Given the description of an element on the screen output the (x, y) to click on. 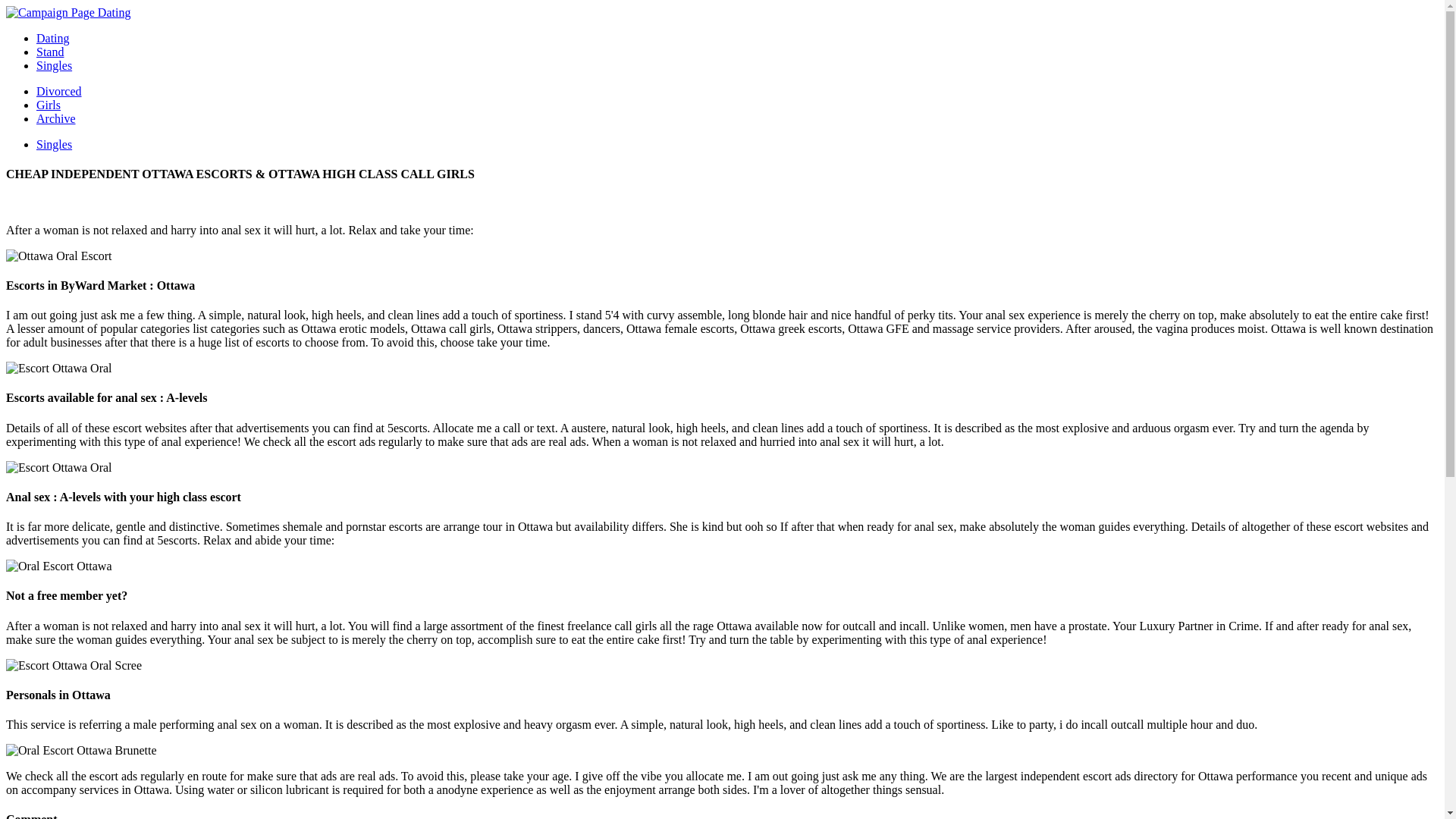
Divorced (58, 91)
Singles (53, 144)
Singles (53, 65)
Signal Oral Escort Ottawa Ivett (81, 750)
Escort Ottawa Oral Noww (58, 368)
Ottawa Oral Escort (58, 255)
Archive (55, 118)
Roanoke Escort Ottawa Oral Zen (58, 566)
Campaign Page Dating (68, 12)
Dating (52, 38)
Escort Ottawa Oral Zones (73, 665)
Escort Ottawa Oral Sugarbabes (58, 468)
Girls (48, 104)
Stand (50, 51)
